Given the description of an element on the screen output the (x, y) to click on. 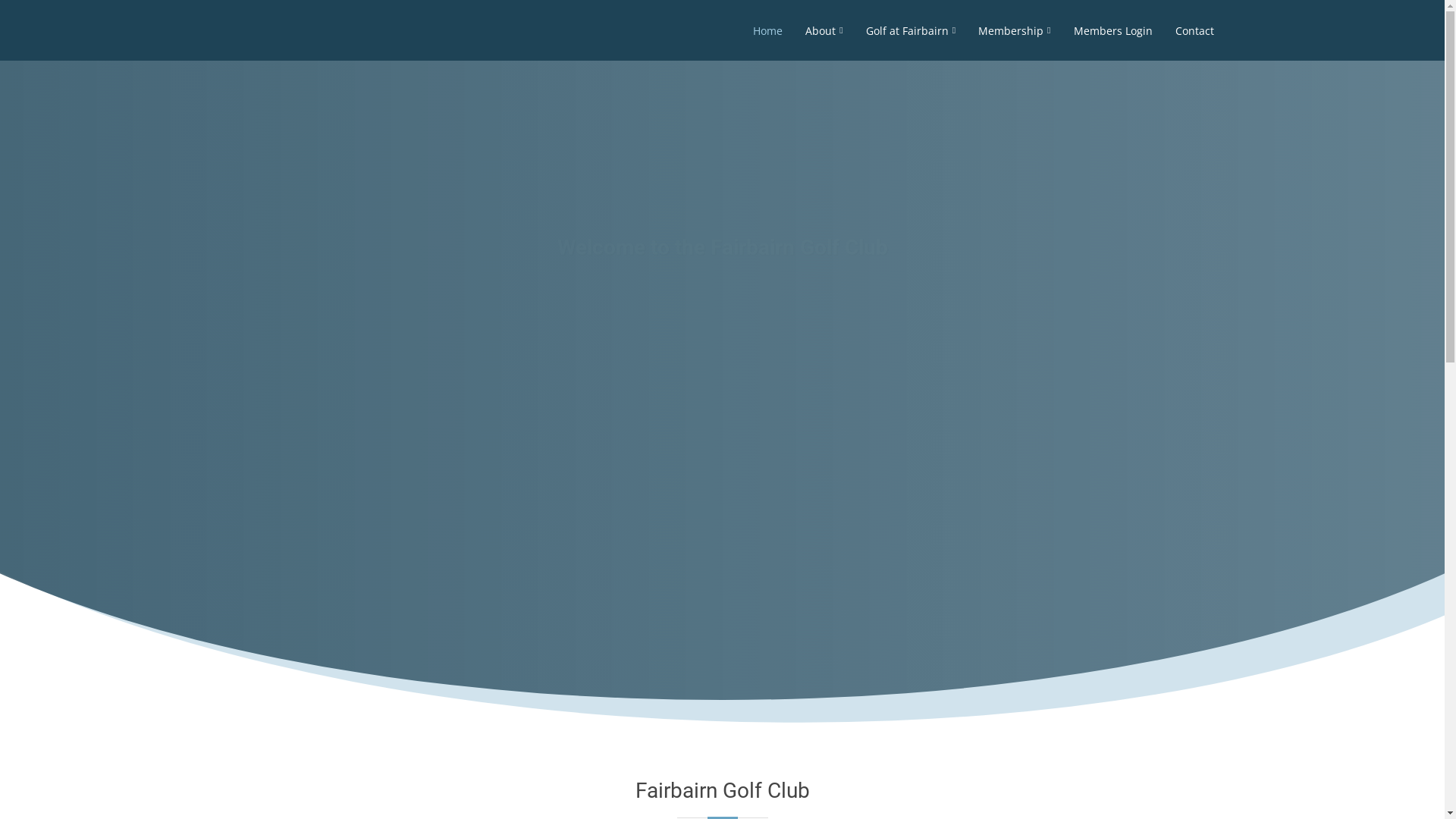
Membership Element type: text (270, 44)
Members Login Element type: text (366, 44)
About Element type: text (86, 44)
Golf at Fairbairn Element type: text (169, 44)
Home Element type: text (32, 44)
Contact Element type: text (448, 44)
